Given the description of an element on the screen output the (x, y) to click on. 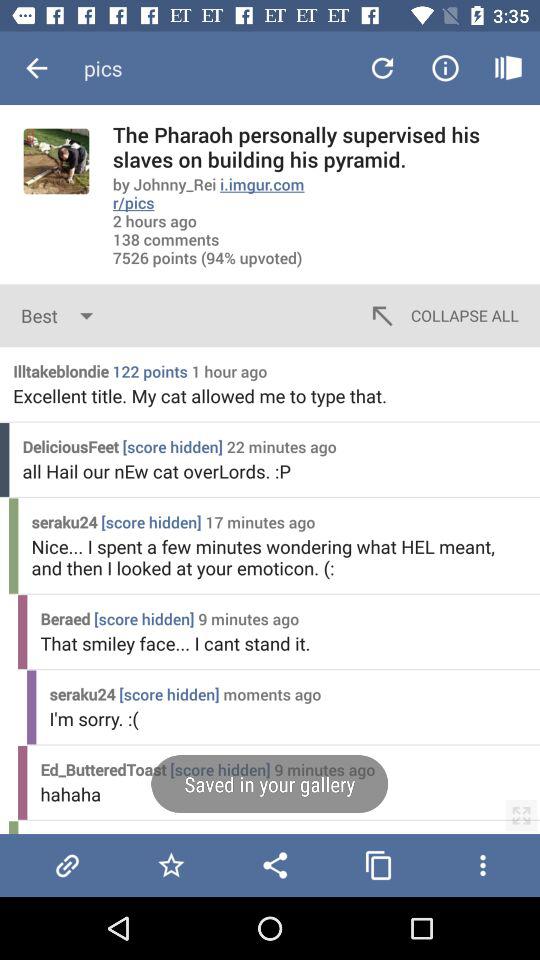
turn off icon above the pharaoh personally icon (381, 67)
